Given the description of an element on the screen output the (x, y) to click on. 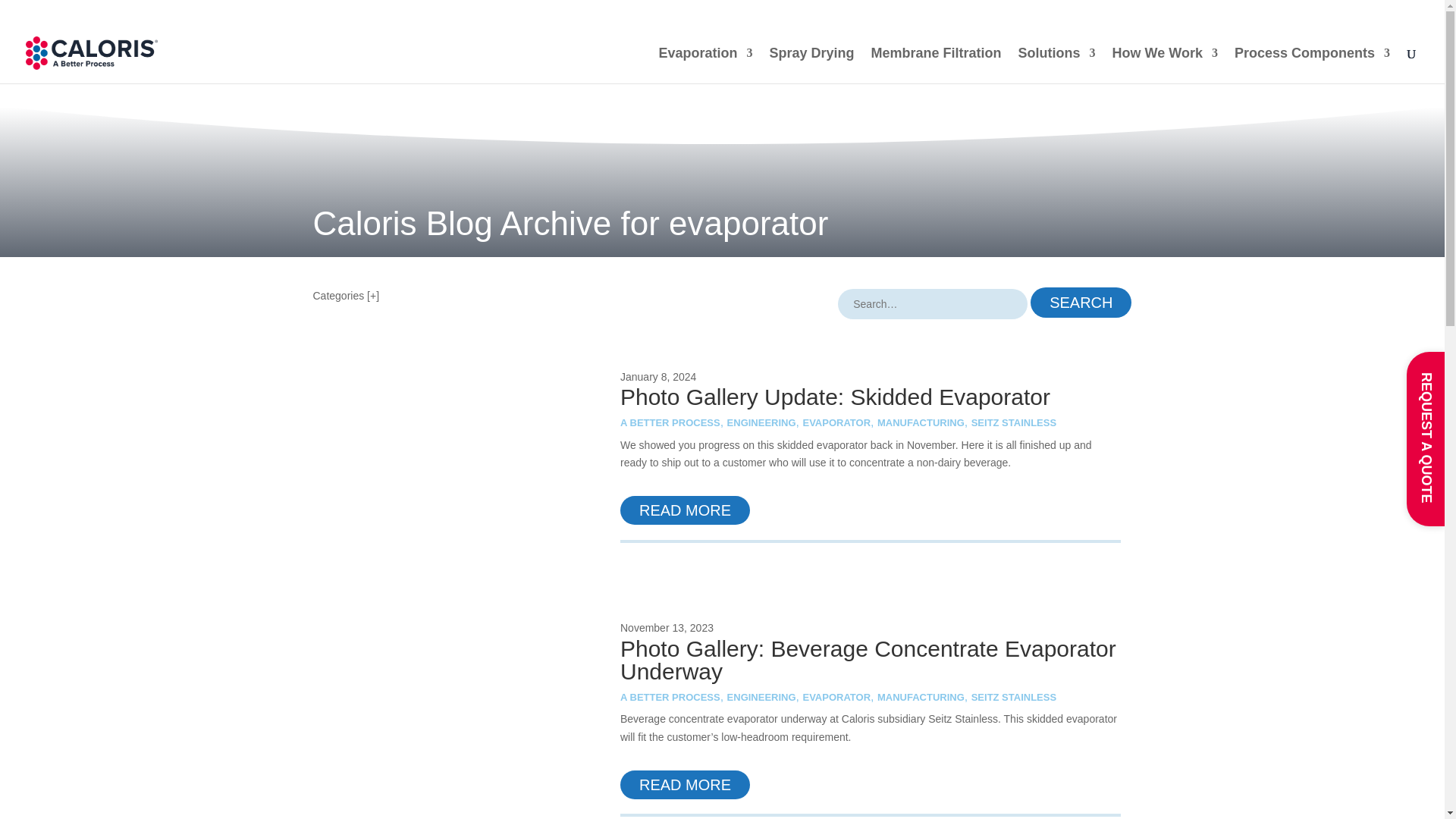
Search... (932, 304)
Careers (1342, 15)
Membrane Filtration (935, 65)
Contact (1398, 15)
Evaporation (705, 65)
Case Studies (1123, 15)
About (1049, 15)
Spray Drying (812, 65)
How We Work (1164, 65)
Solutions (1056, 65)
